Given the description of an element on the screen output the (x, y) to click on. 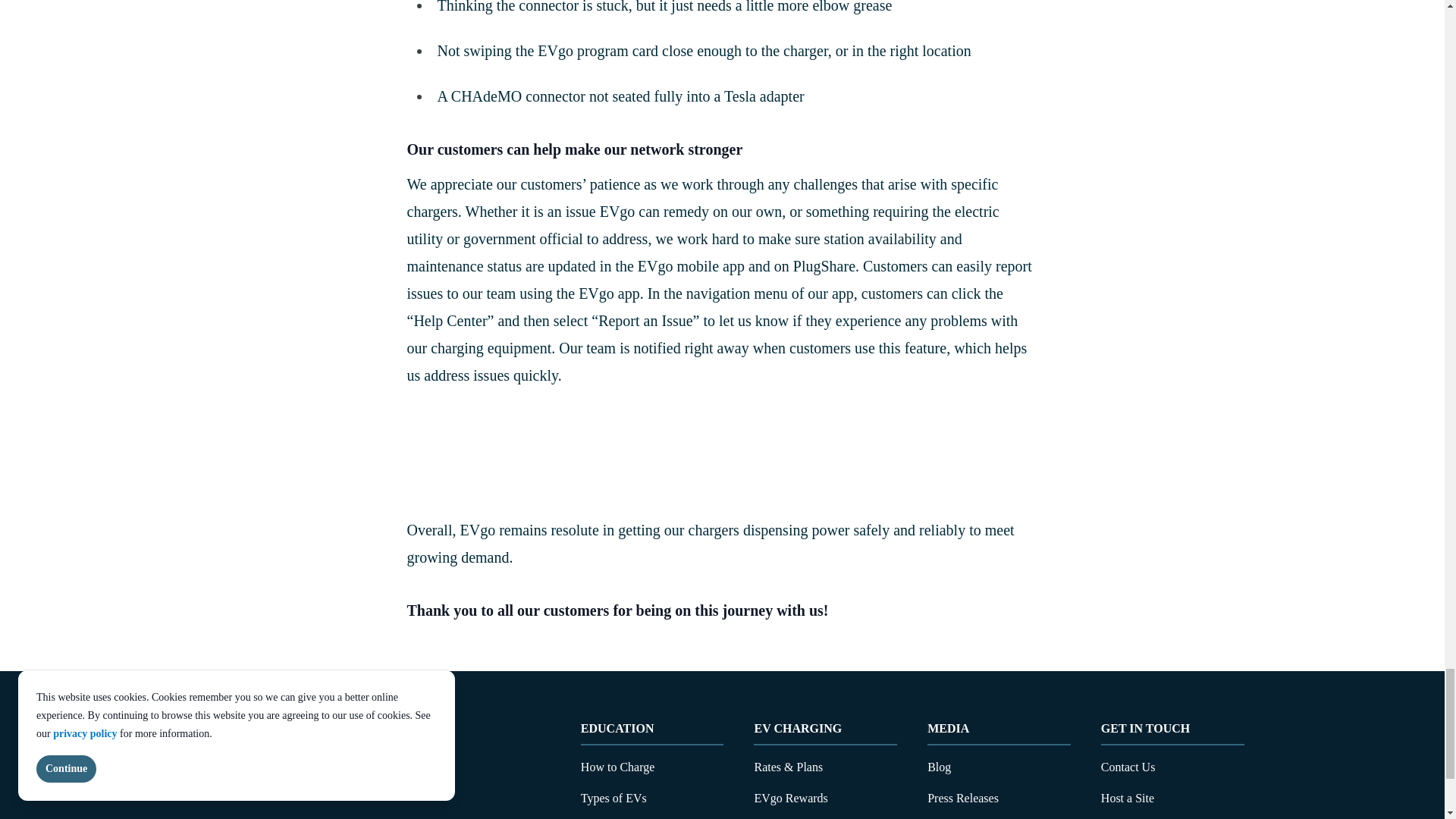
Blog (938, 766)
Contact Us (1128, 766)
How to Charge (616, 766)
Press Releases (962, 797)
Types of EVs (613, 797)
Host a Site (1127, 797)
EVgo Rewards (790, 797)
